Given the description of an element on the screen output the (x, y) to click on. 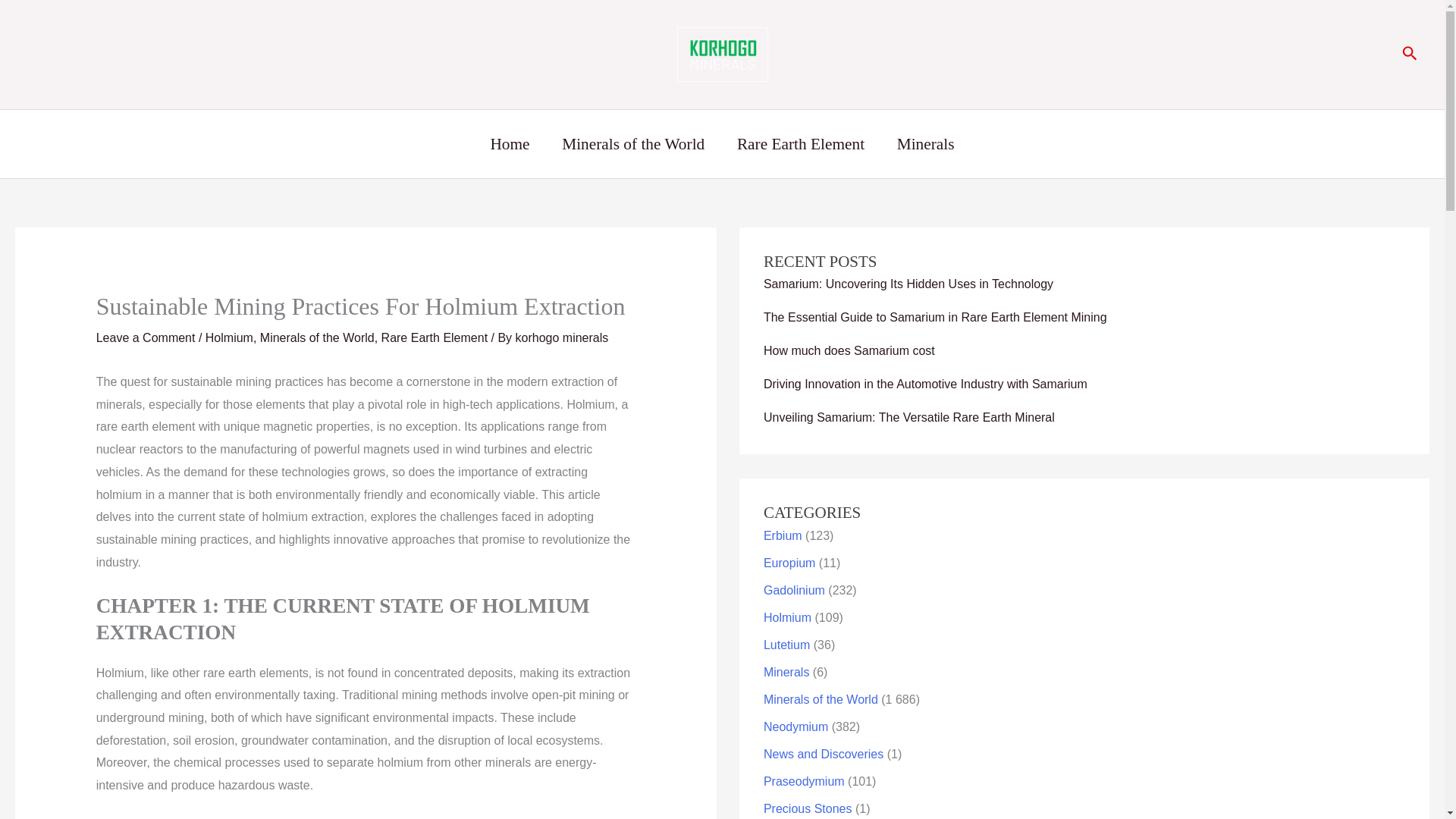
Neodymium (795, 726)
Samarium: Uncovering Its Hidden Uses in Technology (907, 283)
Rare Earth Element (800, 143)
Unveiling Samarium: The Versatile Rare Earth Mineral (908, 417)
News and Discoveries (822, 753)
Minerals (924, 143)
korhogo minerals (561, 337)
The Essential Guide to Samarium in Rare Earth Element Mining (934, 317)
Erbium (782, 535)
Holmium (229, 337)
How much does Samarium cost (848, 350)
Minerals (785, 671)
Lutetium (785, 644)
Minerals of the World (819, 698)
Home (510, 143)
